Given the description of an element on the screen output the (x, y) to click on. 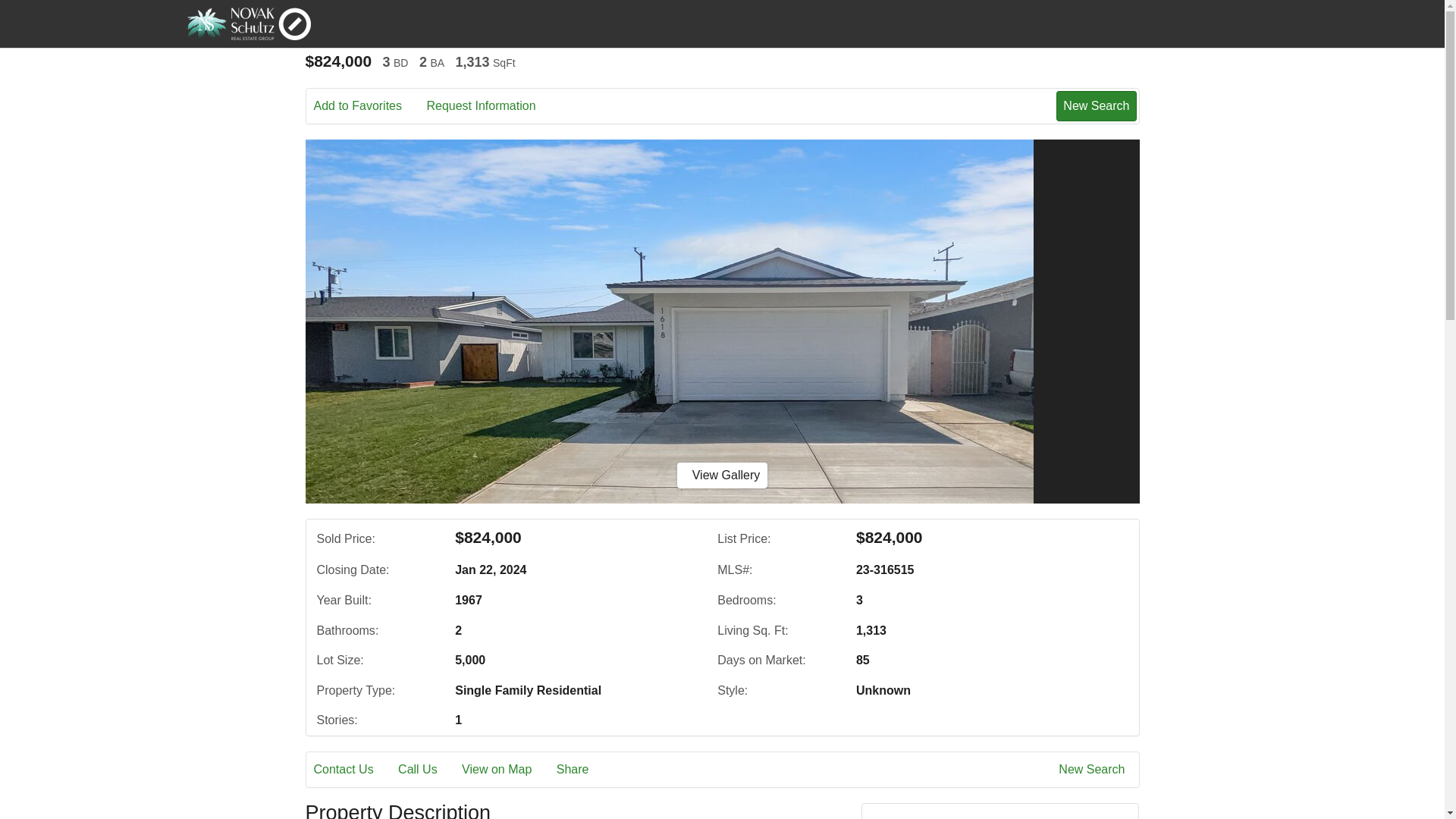
View Gallery (722, 474)
Add to Favorites (368, 106)
New Search (1096, 105)
View on Map (507, 769)
View Gallery (722, 475)
New Search (1094, 769)
Request Information (491, 106)
Call Us (427, 769)
Share (583, 769)
Contact Us (354, 769)
